Given the description of an element on the screen output the (x, y) to click on. 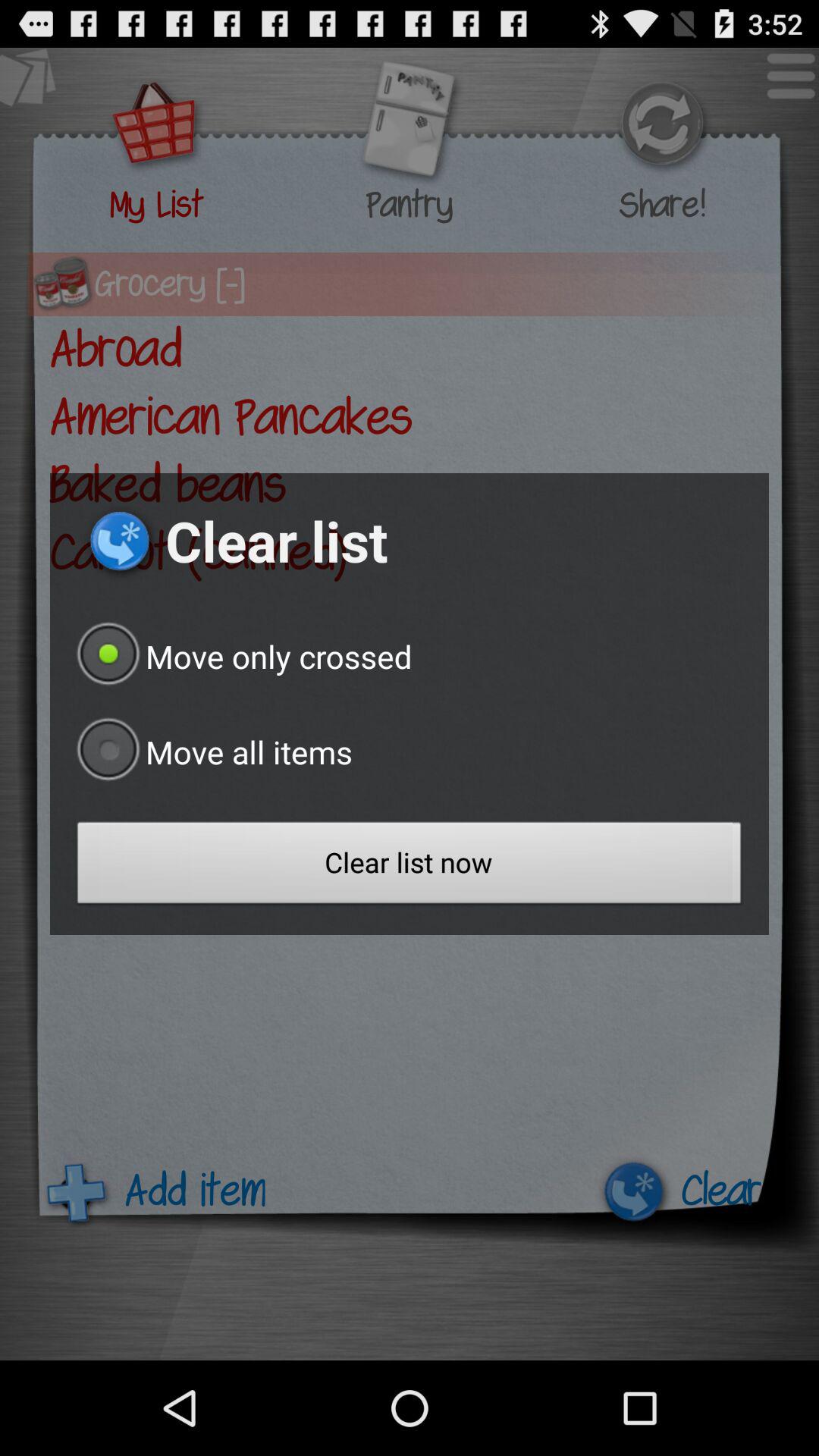
press item above the move all items item (240, 656)
